Given the description of an element on the screen output the (x, y) to click on. 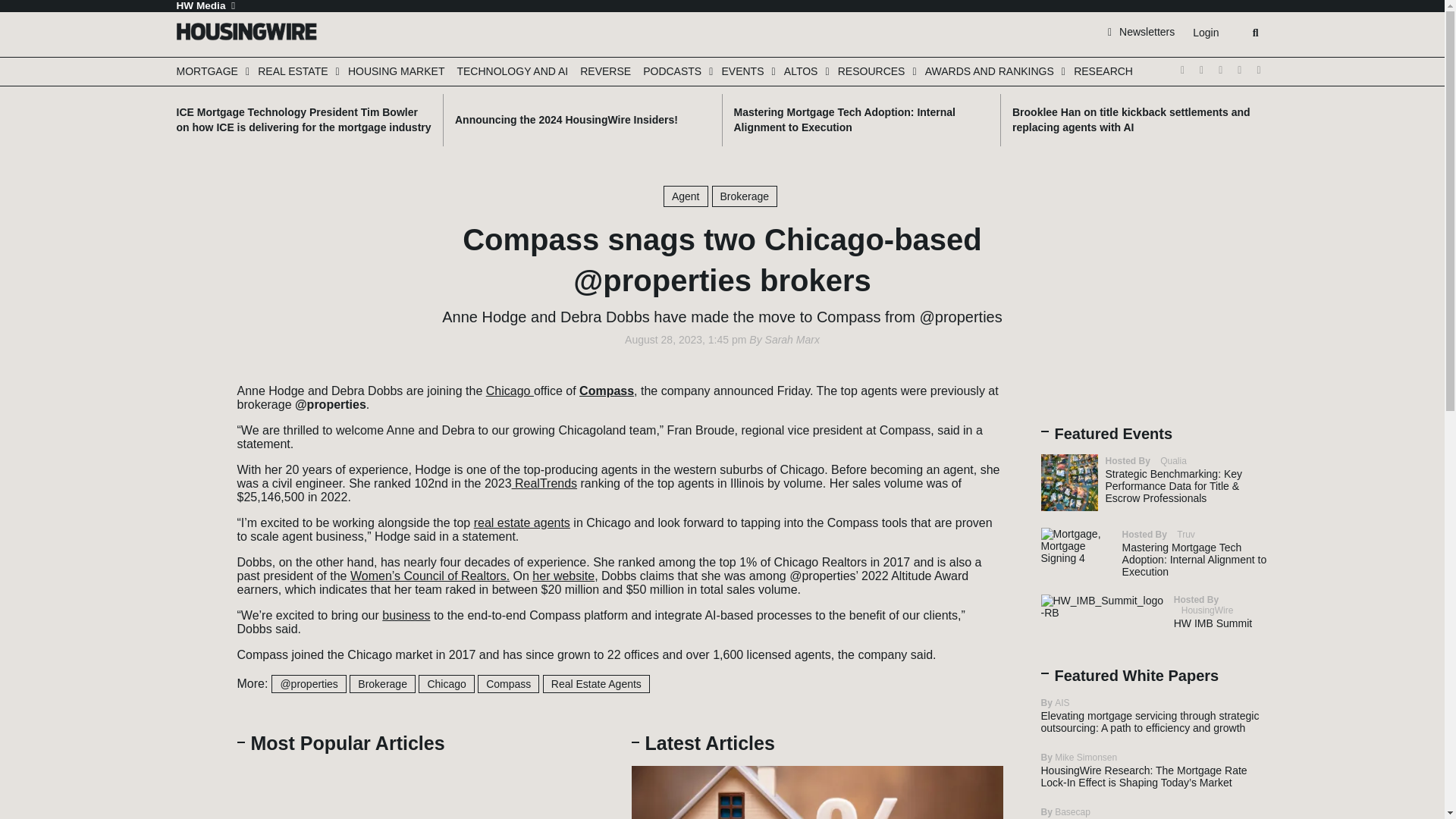
Click to copy link (192, 477)
Login (1205, 32)
Click to share on Twitter (192, 386)
Posts by Sarah Marx (792, 339)
Click to email a link to a friend (192, 454)
Click to share on Facebook (192, 408)
Newsletters (1141, 31)
Click to share on LinkedIn (192, 431)
